Given the description of an element on the screen output the (x, y) to click on. 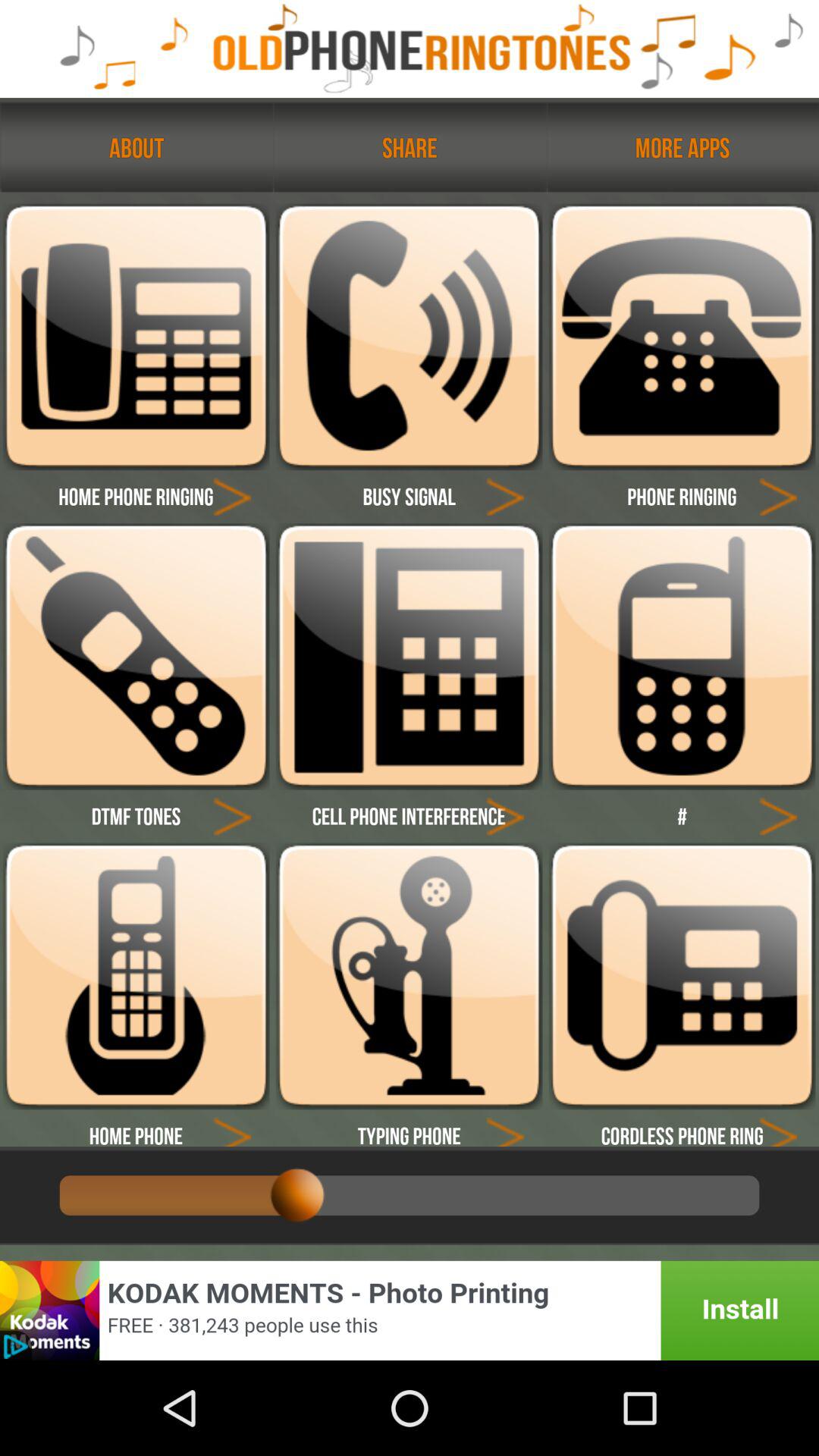
select typing phone (505, 1127)
